Given the description of an element on the screen output the (x, y) to click on. 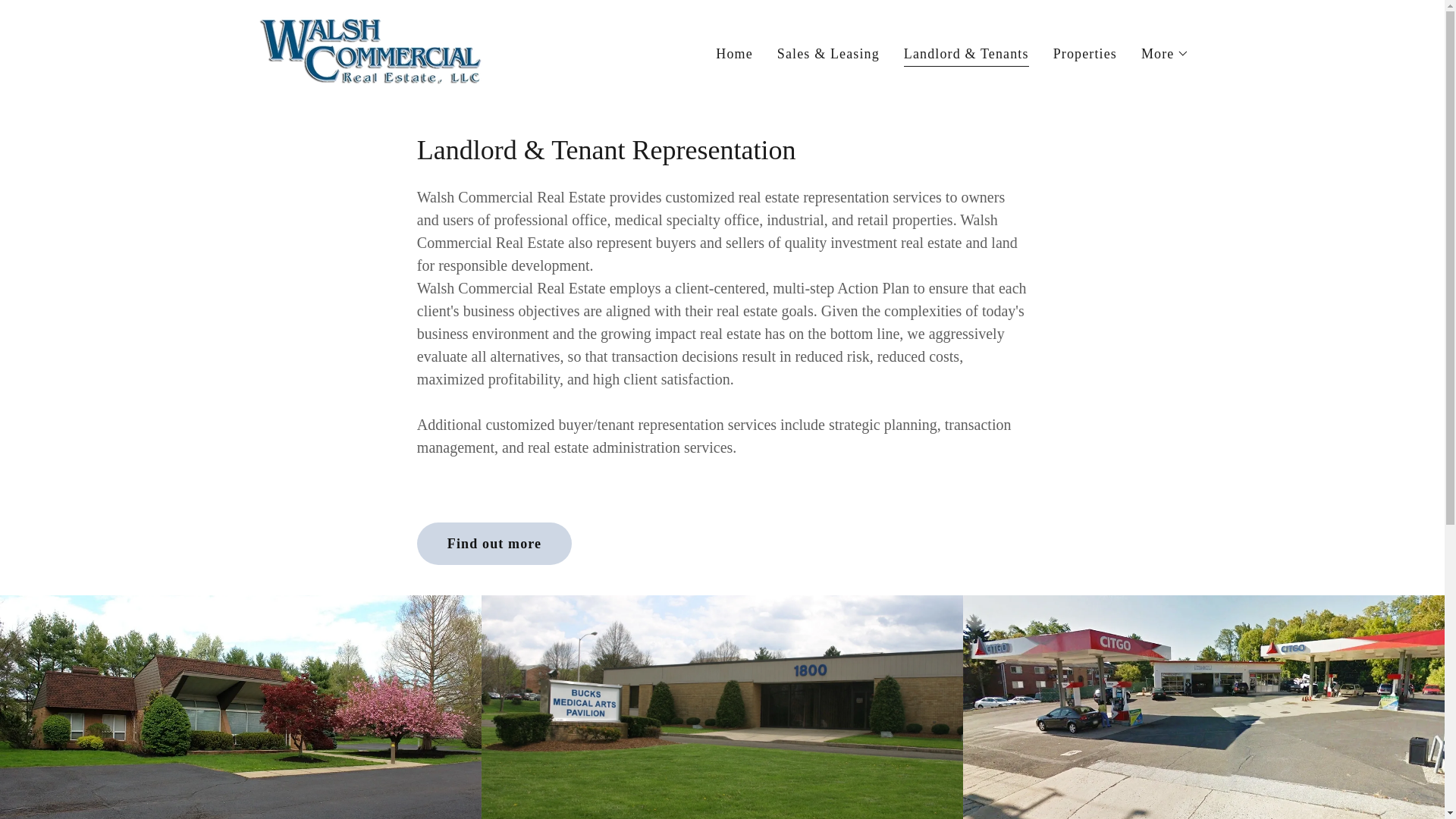
Find out more (494, 543)
Walsh Commercial Real Estate (370, 49)
Properties (1084, 52)
Home (734, 52)
More (1165, 53)
